Given the description of an element on the screen output the (x, y) to click on. 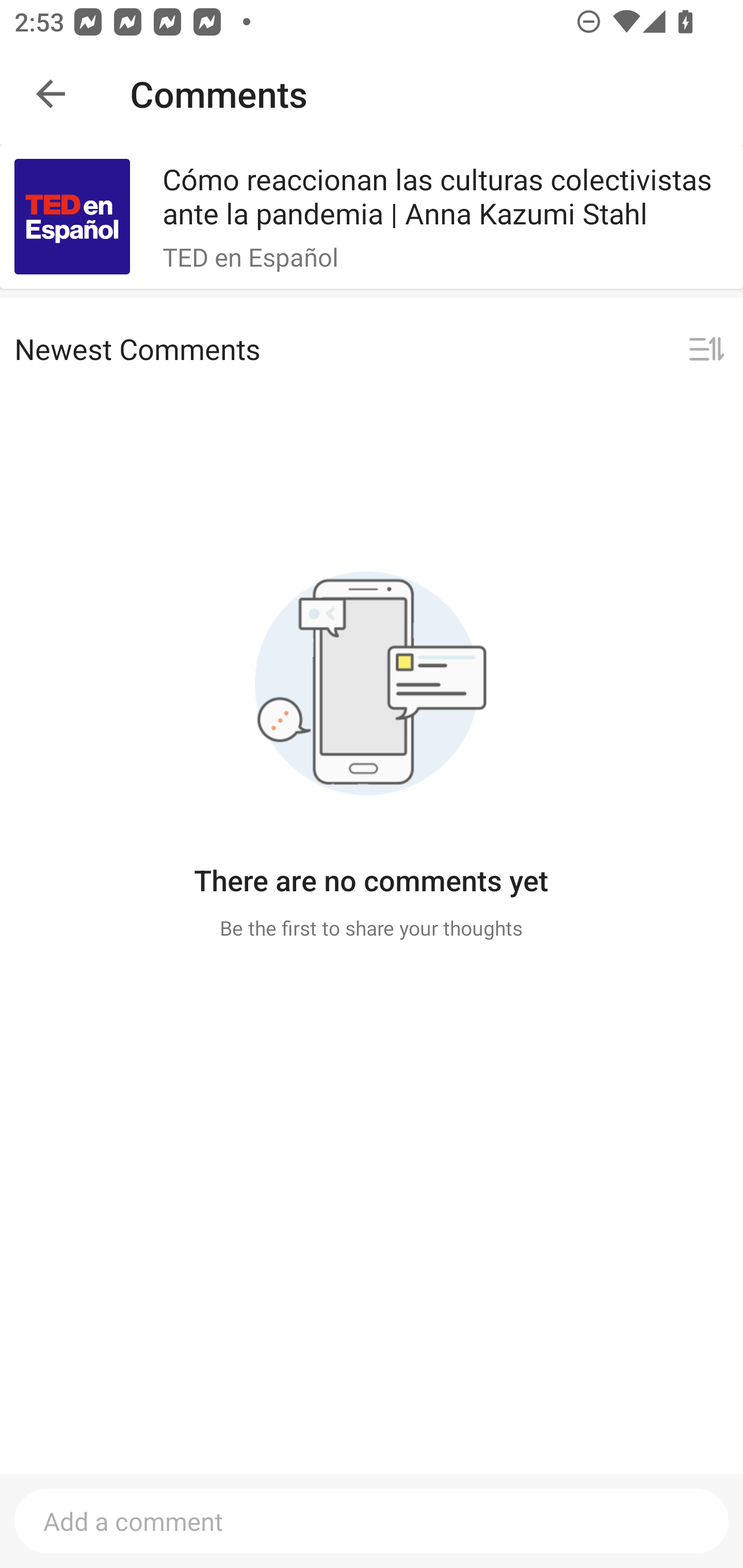
Navigate up (50, 93)
 (706, 349)
Add a comment (371, 1520)
